Given the description of an element on the screen output the (x, y) to click on. 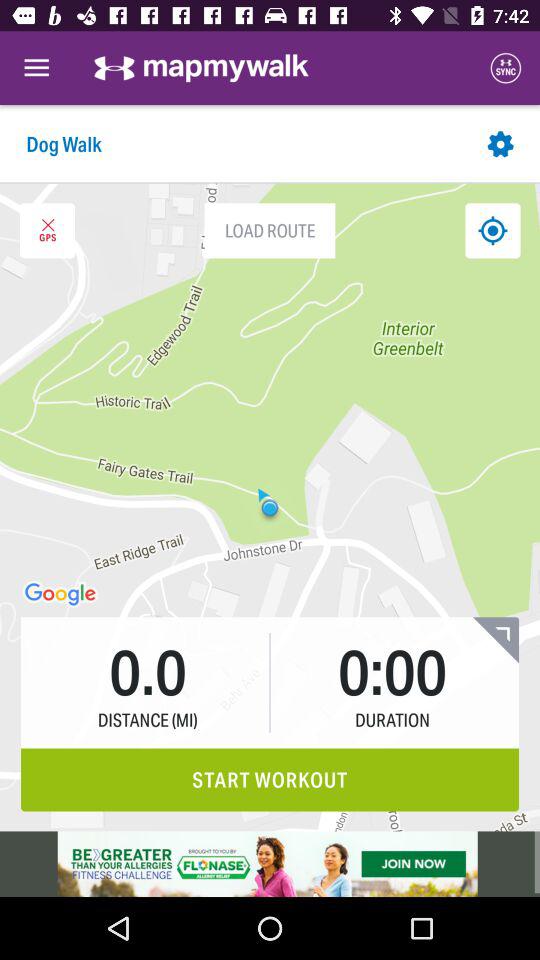
details about advertisement (270, 864)
